Given the description of an element on the screen output the (x, y) to click on. 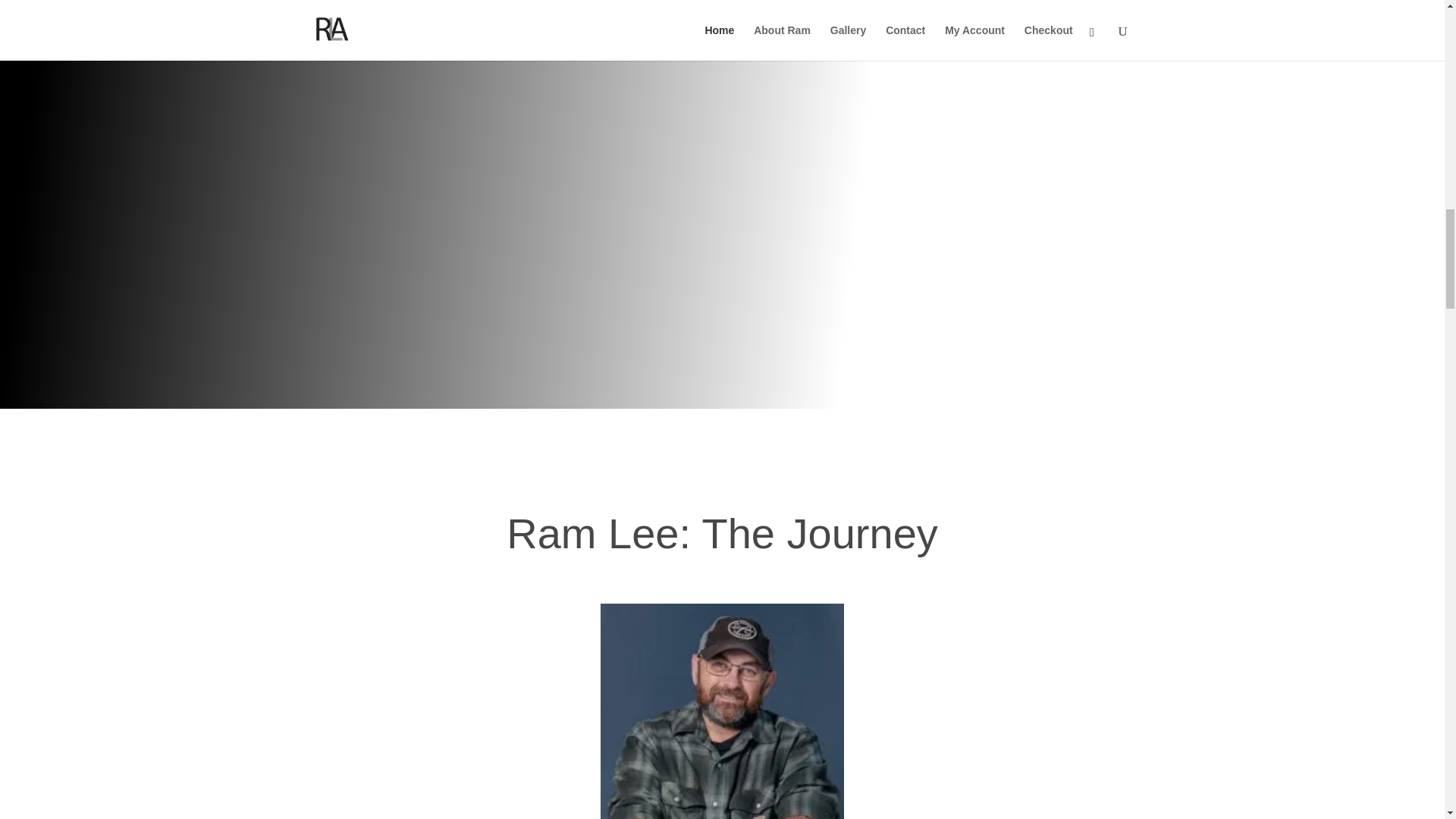
Ram-Lee-Art-Tattoo1110 (721, 711)
